Given the description of an element on the screen output the (x, y) to click on. 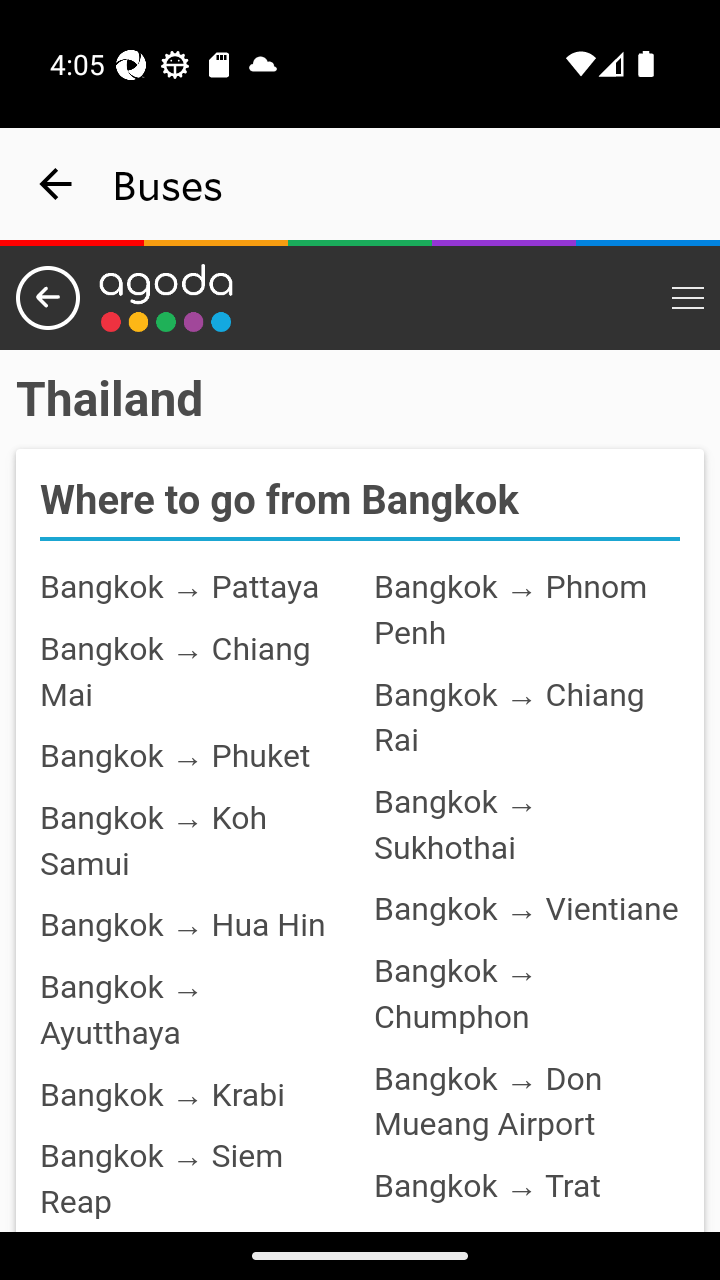
navigation_button (56, 184)
Link to main page 5418 (166, 298)
Bangkok → Pattaya (179, 588)
Bangkok → Phnom Penh (510, 609)
Bangkok → Chiang Mai (175, 671)
Bangkok → Chiang Rai (509, 717)
Bangkok → Phuket (175, 755)
Bangkok → Sukhothai (455, 824)
Bangkok → Koh Samui (153, 840)
Bangkok → Vientiane (526, 909)
Bangkok → Hua Hin (183, 925)
Bangkok → Chumphon (455, 993)
Bangkok → Ayutthaya (121, 1009)
Bangkok → Don Mueang Airport (488, 1101)
Bangkok → Krabi (162, 1093)
Bangkok → Siem Reap (161, 1179)
Bangkok → Trat (487, 1185)
